Given the description of an element on the screen output the (x, y) to click on. 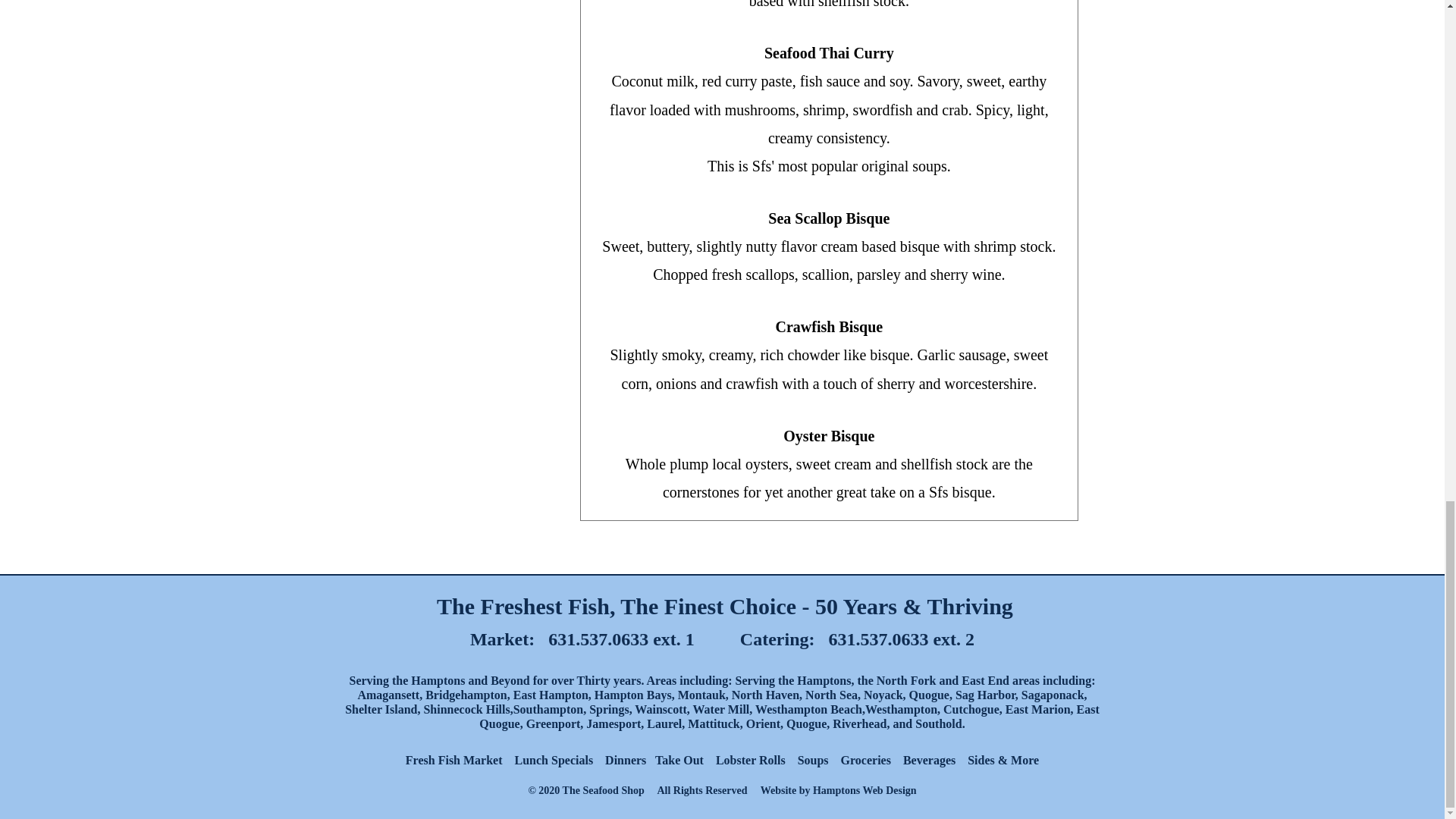
631.537.0633 (878, 639)
Hamptons Web Design (864, 790)
631.537.0633 (597, 639)
